Given the description of an element on the screen output the (x, y) to click on. 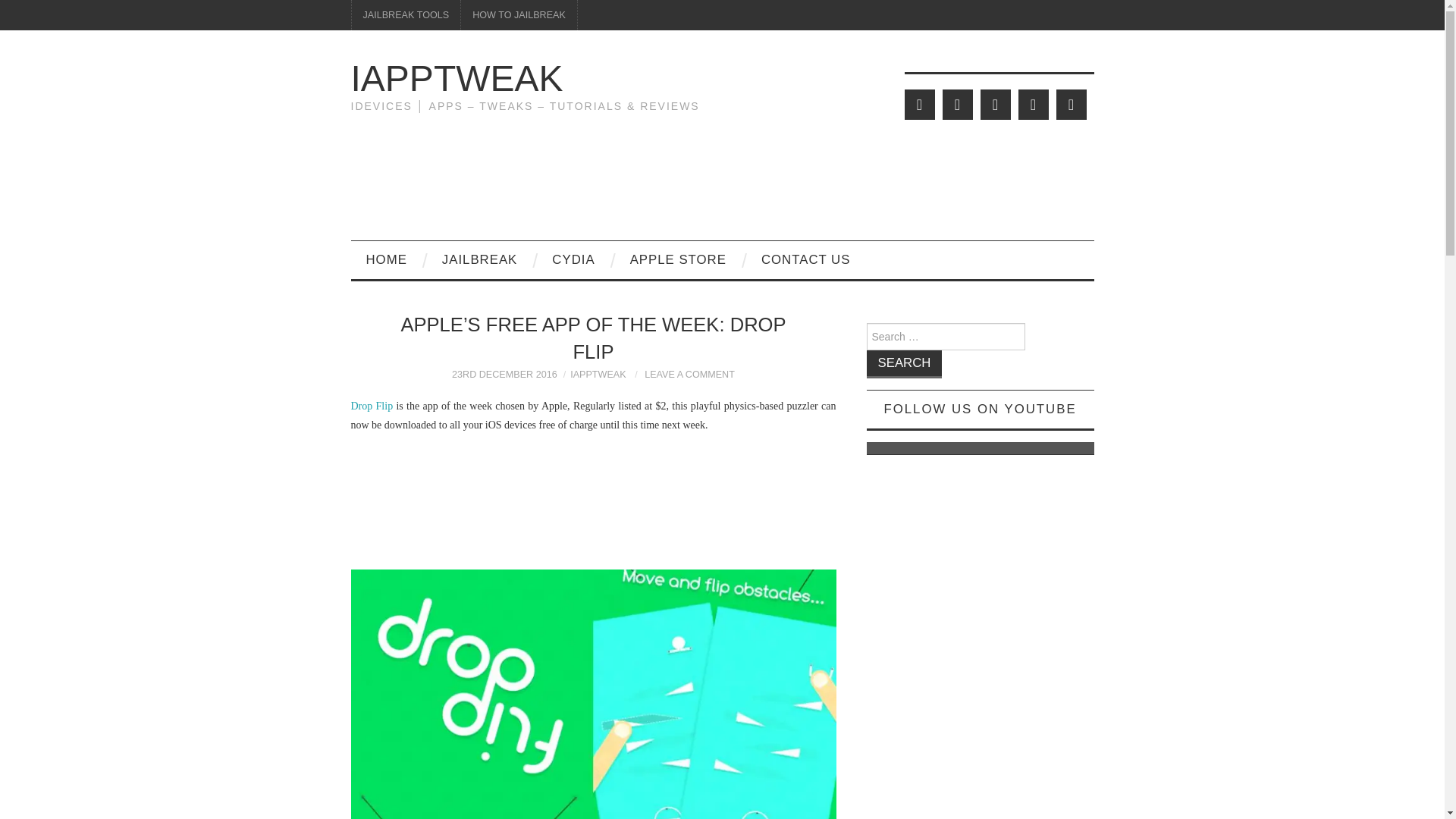
Instagram (1070, 104)
Search for: (945, 336)
CONTACT US (805, 259)
Drop Flip (371, 405)
Facebook (957, 104)
HOW TO JAILBREAK (518, 15)
 Jailbreak Tools (406, 15)
23RD DECEMBER 2016 (504, 374)
CYDIA (573, 259)
iappTweak (456, 78)
JAILBREAK TOOLS (406, 15)
JAILBREAK (479, 259)
IAPPTWEAK (598, 374)
APPLE STORE (677, 259)
LEAVE A COMMENT (690, 374)
